Given the description of an element on the screen output the (x, y) to click on. 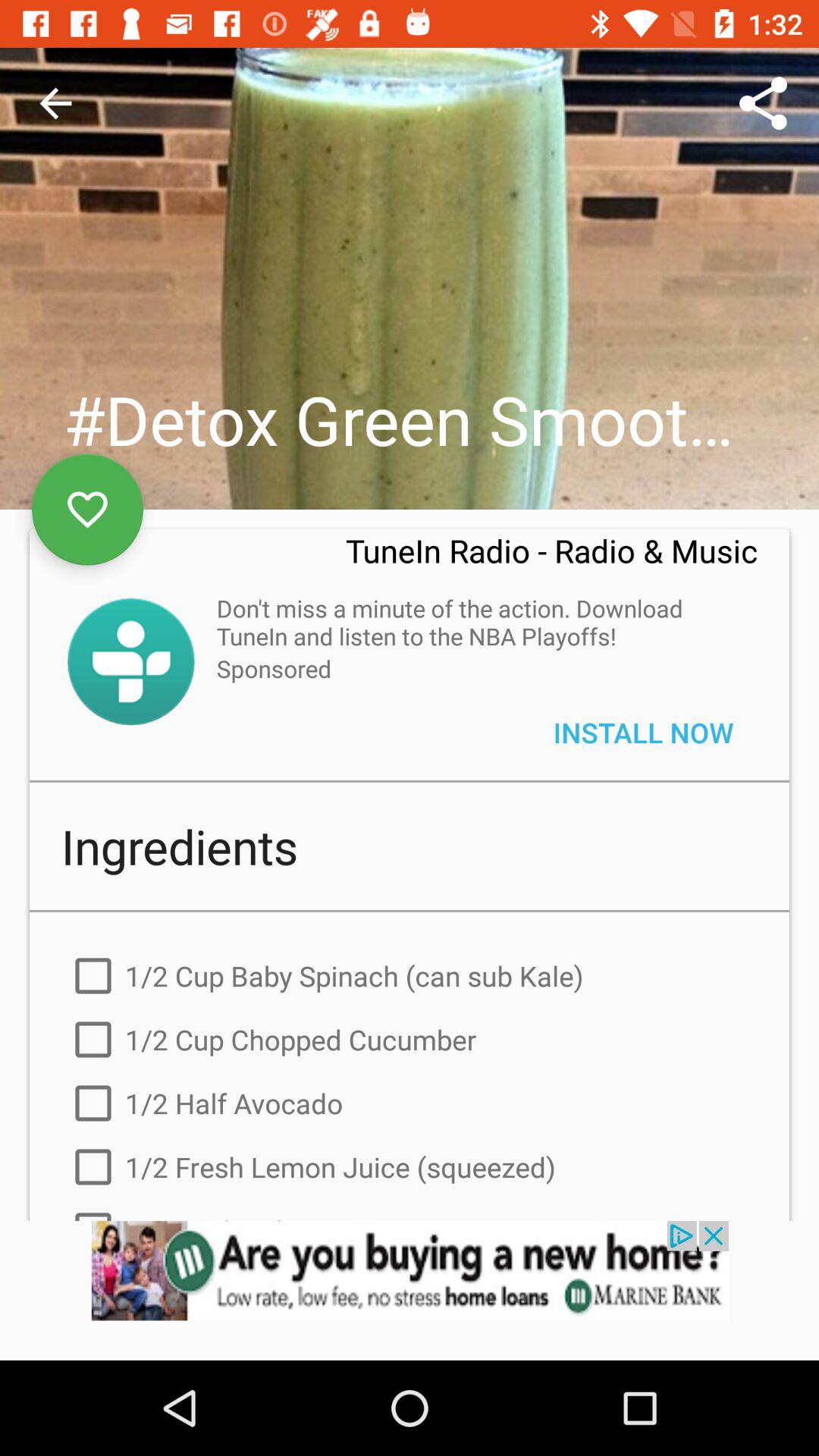
symbol of sowtware (130, 661)
